Given the description of an element on the screen output the (x, y) to click on. 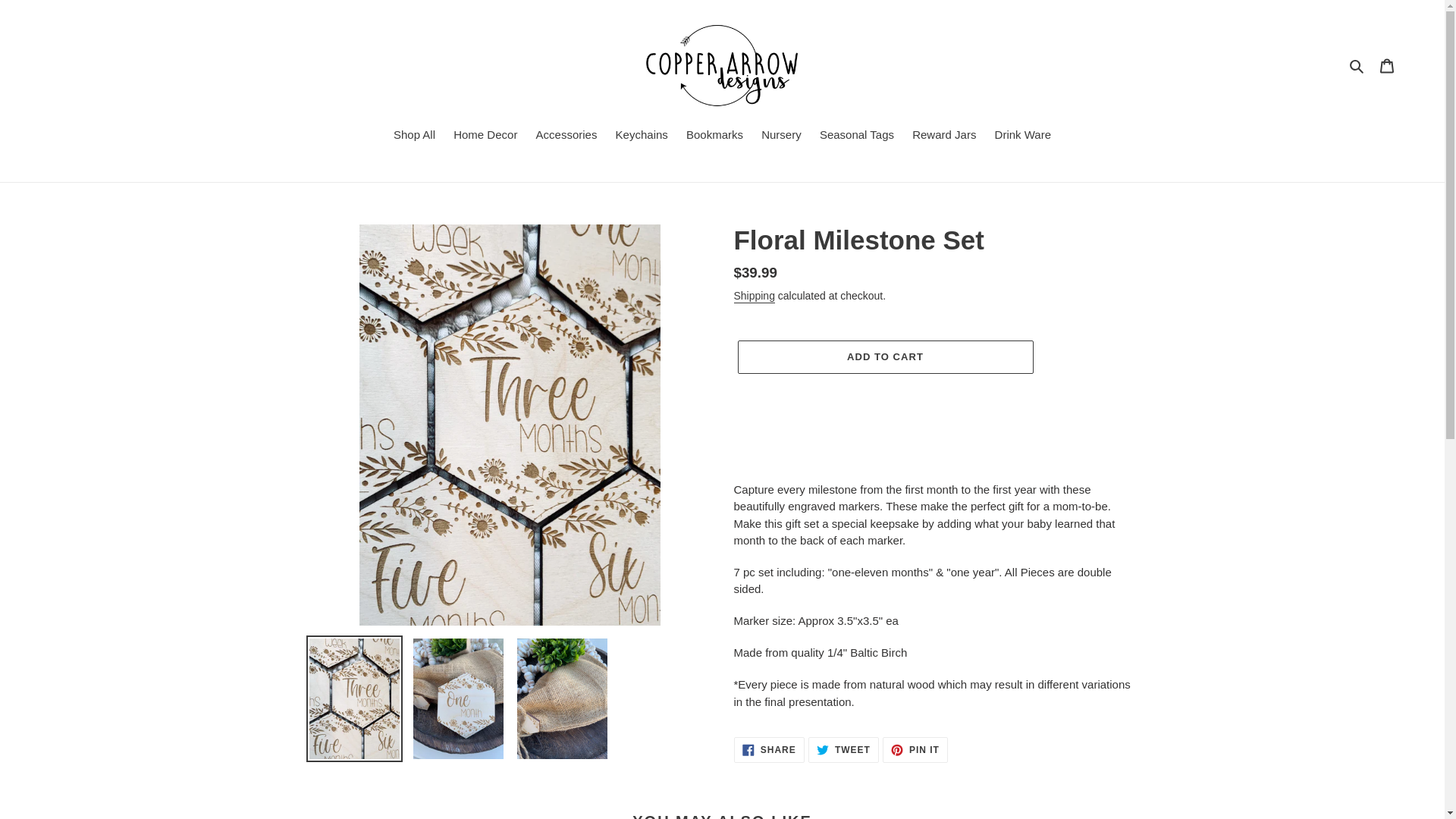
Cart (1387, 65)
Accessories (566, 136)
Nursery (781, 136)
Keychains (641, 136)
Search (843, 749)
Home Decor (1357, 65)
Reward Jars (484, 136)
Bookmarks (914, 749)
Drink Ware (769, 749)
ADD TO CART (944, 136)
Shipping (714, 136)
Shop All (1022, 136)
